Given the description of an element on the screen output the (x, y) to click on. 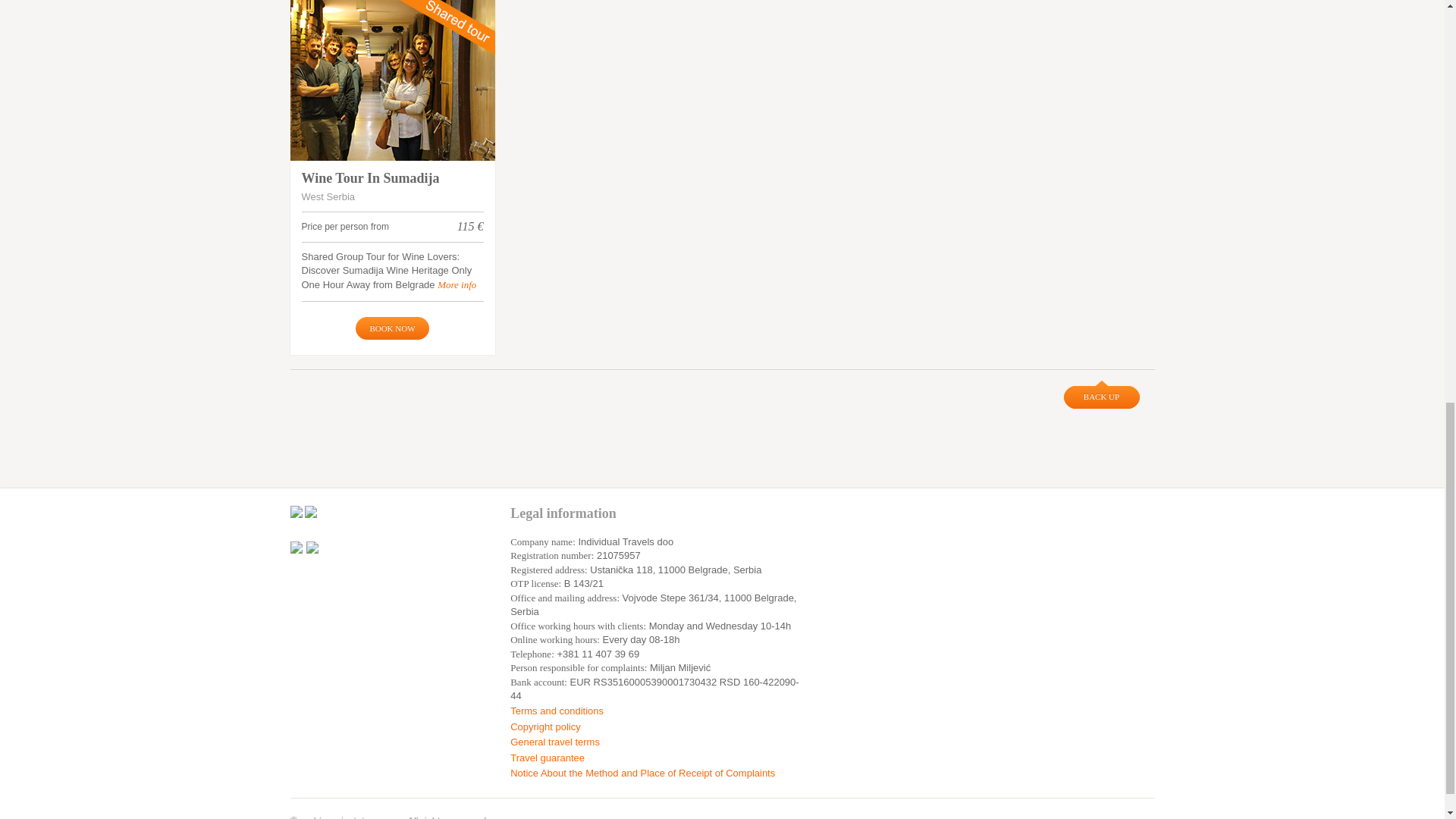
Wine Tour In Sumadija (392, 80)
Book now (391, 327)
Back up (1100, 394)
fb:like Facebook Social Plugin (406, 511)
BACK UP (1100, 394)
